Given the description of an element on the screen output the (x, y) to click on. 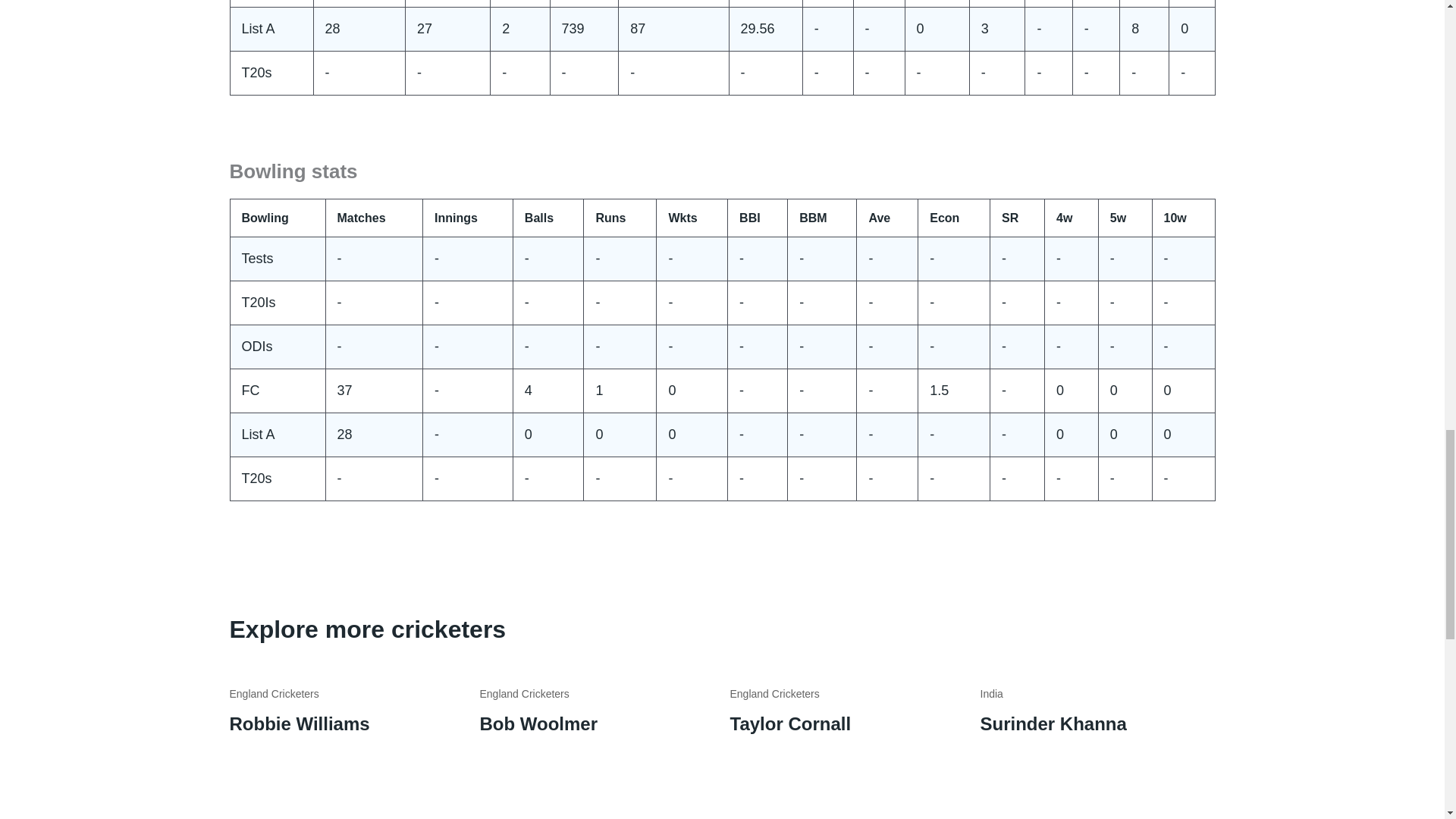
Bob Woolmer (537, 723)
England Cricketers (273, 693)
England Cricketers (524, 693)
England Cricketers (773, 693)
Taylor Cornall (789, 723)
India (991, 693)
Robbie Williams (298, 723)
Surinder Khanna (1052, 723)
